Given the description of an element on the screen output the (x, y) to click on. 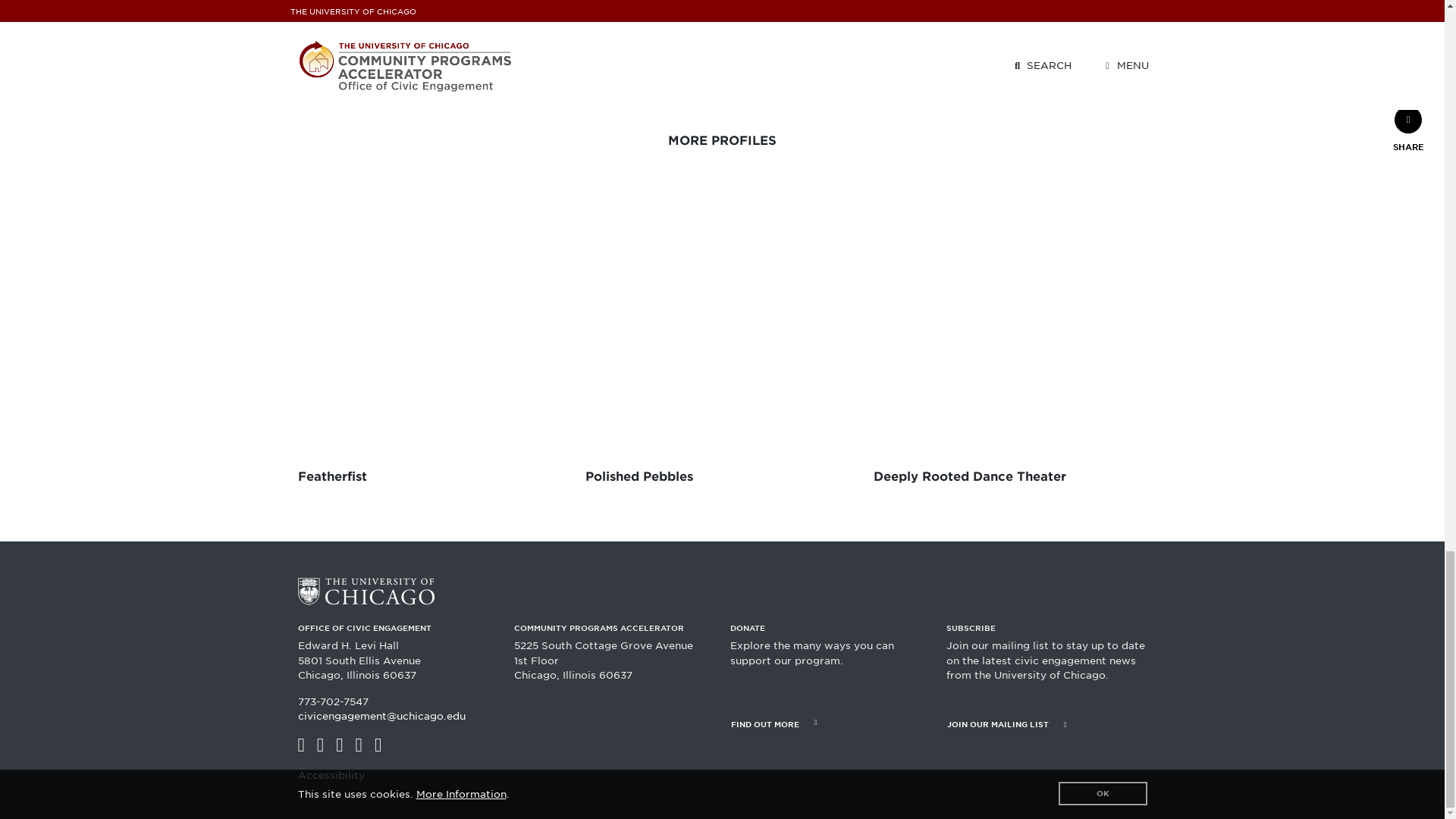
Polished Pebbles (722, 344)
Youtube (358, 745)
Deeply Rooted Dance Theater (1010, 344)
Instagram (339, 745)
Accessibility (330, 774)
YouTube (358, 745)
Twitter (320, 745)
LinkedIn (377, 745)
JOIN OUR MAILING LIST (1046, 724)
Featherfist (433, 344)
Twitter (320, 745)
LinkedIn (377, 745)
Instagram (339, 745)
Facebook (300, 745)
Facebook (300, 745)
